Given the description of an element on the screen output the (x, y) to click on. 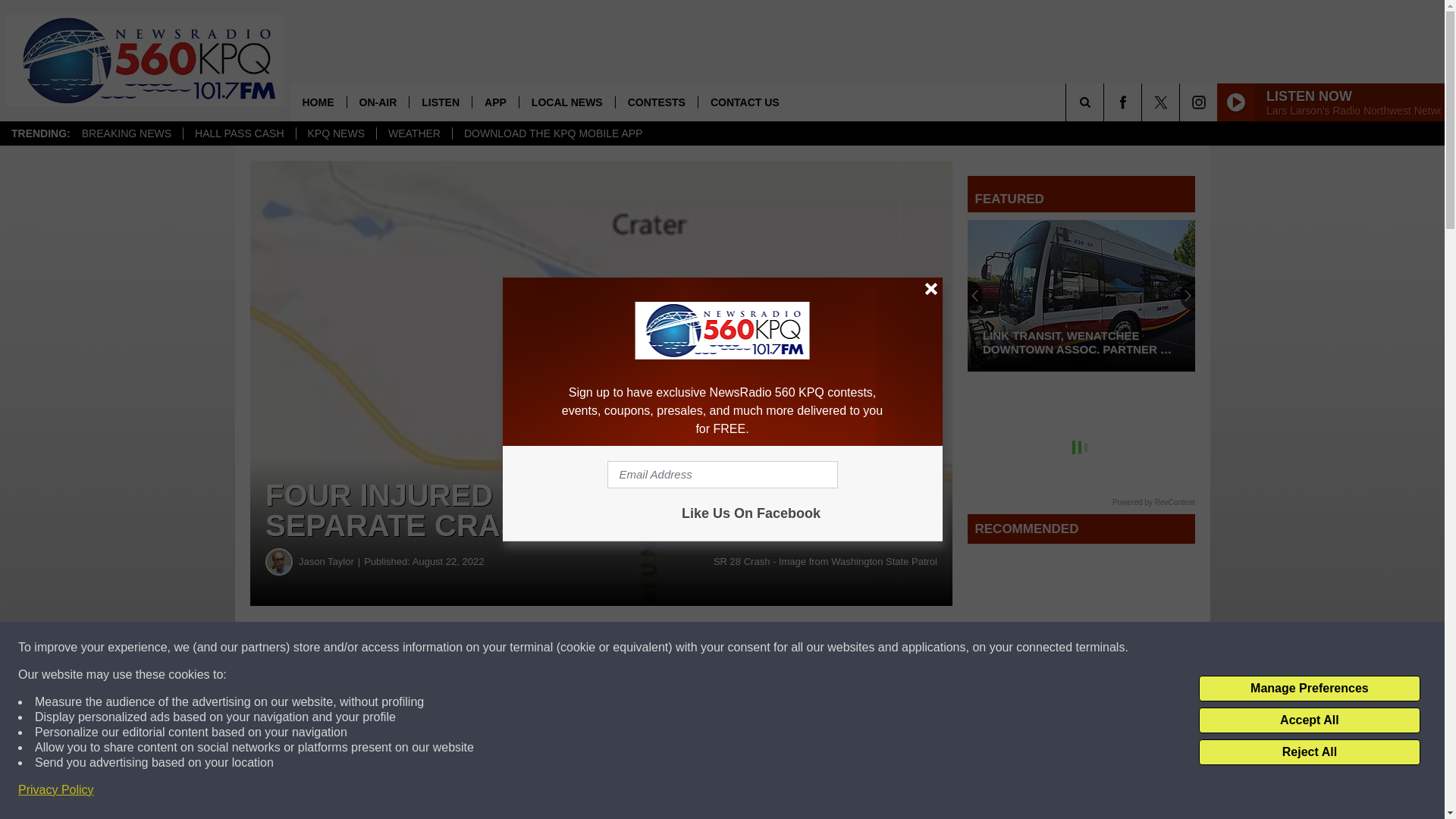
HALL PASS CASH (239, 133)
LISTEN (440, 102)
Reject All (1309, 751)
SEARCH (1106, 102)
Email Address (722, 474)
ON-AIR (377, 102)
BREAKING NEWS (126, 133)
HOME (317, 102)
DOWNLOAD THE KPQ MOBILE APP (552, 133)
Share on Facebook (460, 647)
Accept All (1309, 720)
APP (494, 102)
LOCAL NEWS (566, 102)
CONTESTS (655, 102)
Share on Twitter (741, 647)
